Given the description of an element on the screen output the (x, y) to click on. 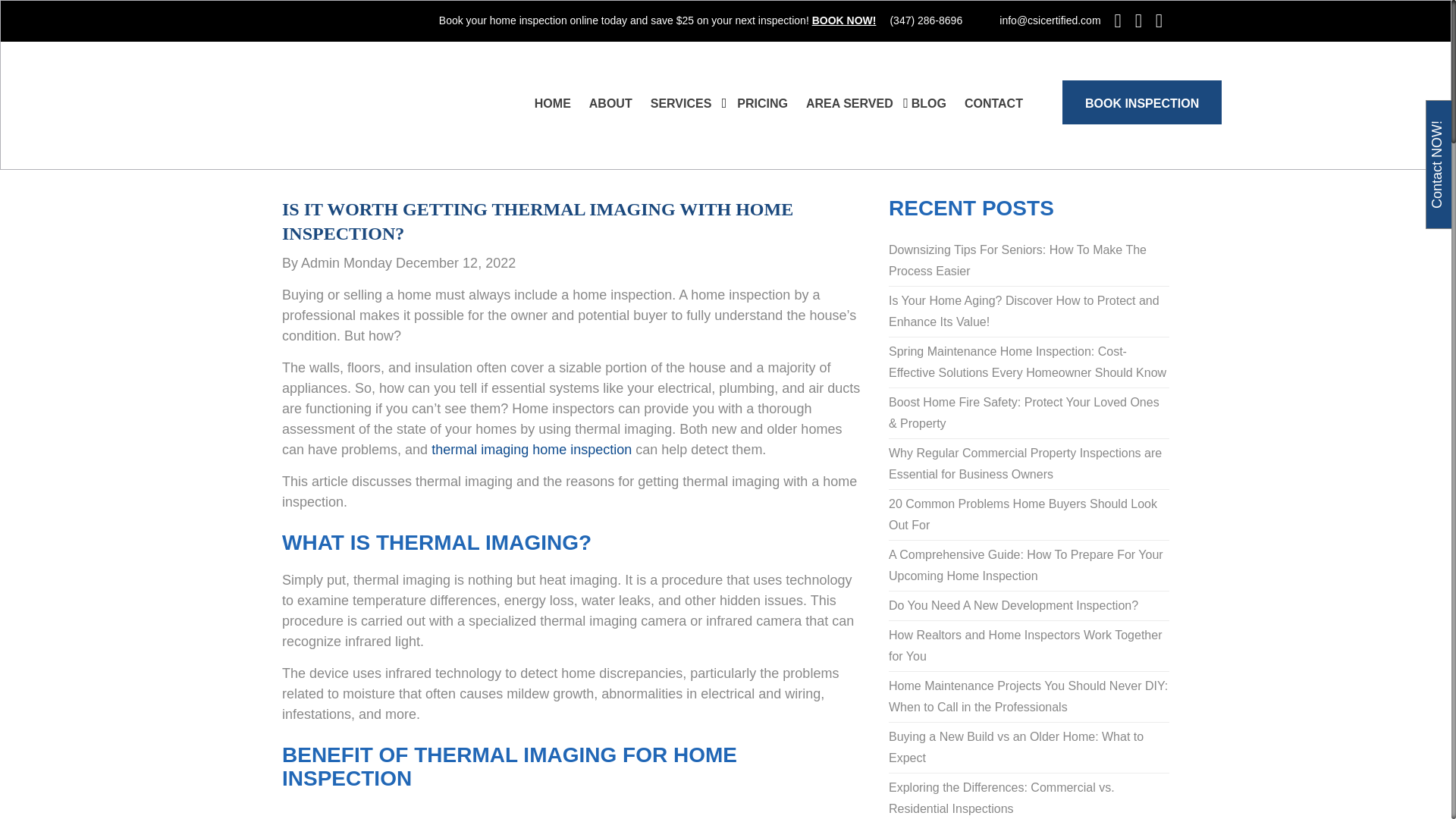
Downsizing Tips For Seniors: How To Make The Process Easier (1028, 260)
PRICING (761, 103)
AREA SERVED (849, 103)
Do You Need A New Development Inspection? (1028, 605)
thermal imaging home inspection (530, 449)
BOOK NOW! (844, 20)
How Realtors and Home Inspectors Work Together for You (1028, 645)
